Given the description of an element on the screen output the (x, y) to click on. 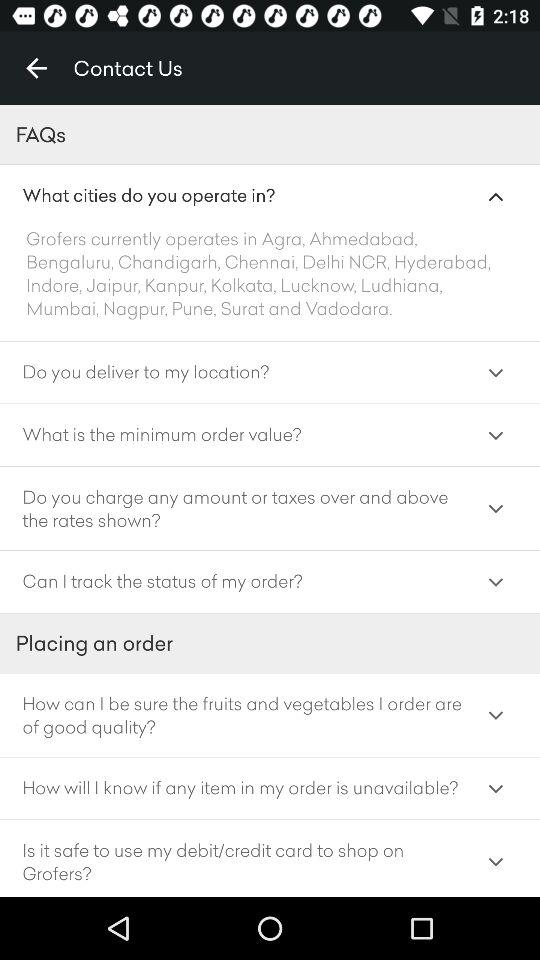
select the item next to the contact us icon (36, 67)
